Given the description of an element on the screen output the (x, y) to click on. 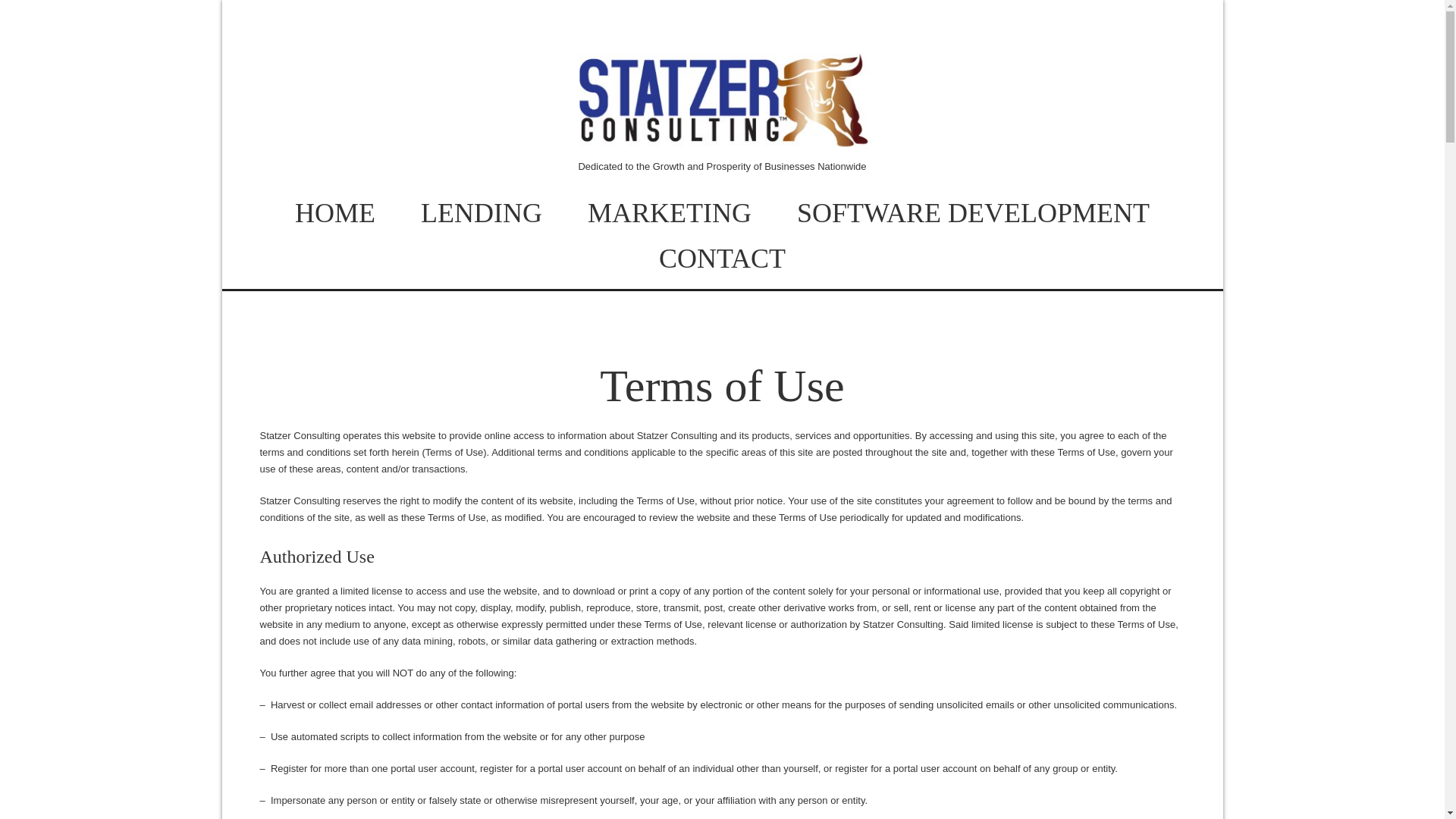
Statzer Consulting (722, 132)
SOFTWARE DEVELOPMENT (973, 212)
MARKETING (669, 212)
CONTACT (722, 258)
LENDING (480, 212)
HOME (335, 212)
